Given the description of an element on the screen output the (x, y) to click on. 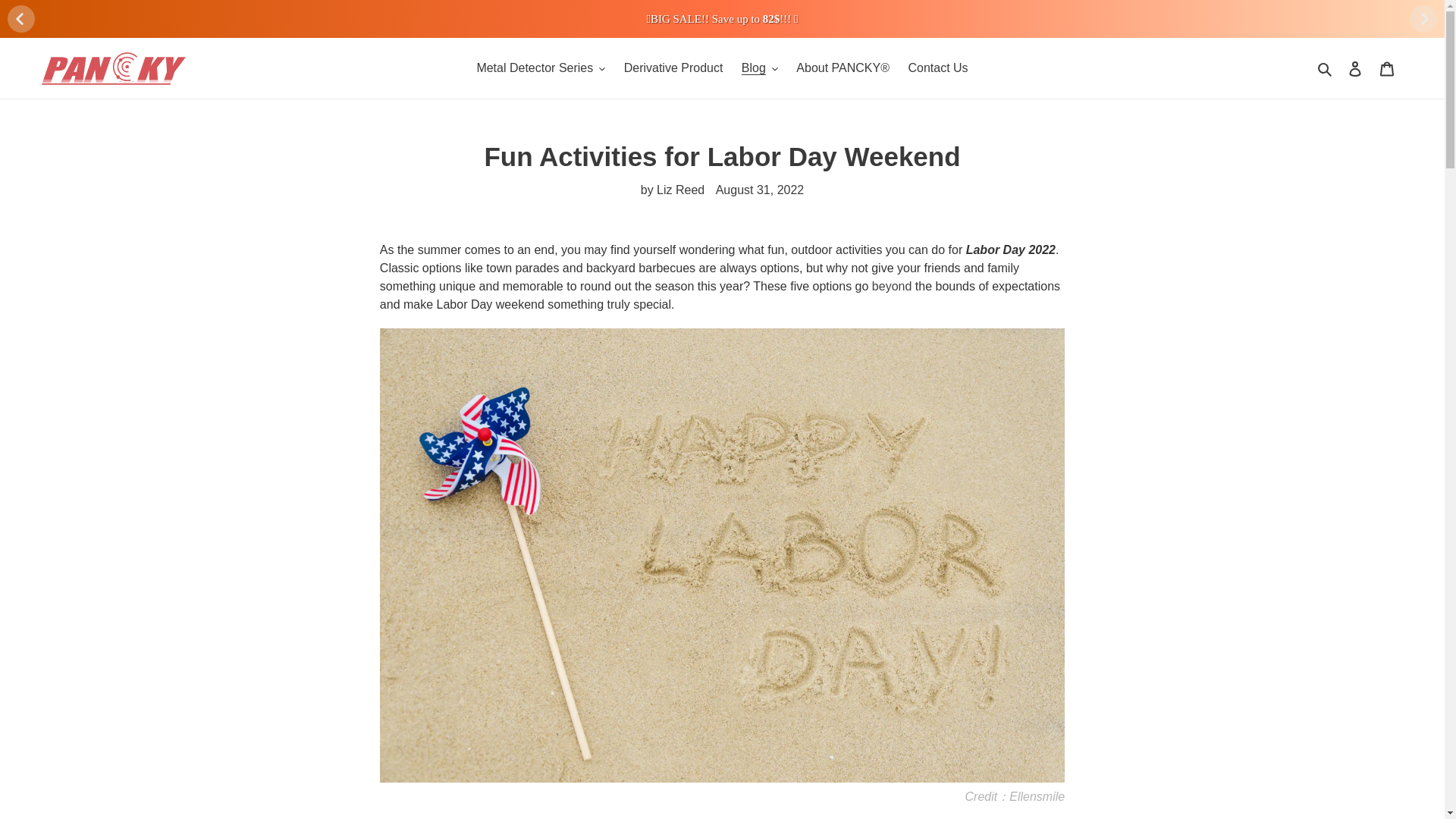
Log in (1355, 68)
Cart (1387, 68)
Derivative Product (672, 67)
Search (1326, 67)
Contact Us (937, 67)
Blog (759, 67)
Metal Detector Series (540, 67)
